Given the description of an element on the screen output the (x, y) to click on. 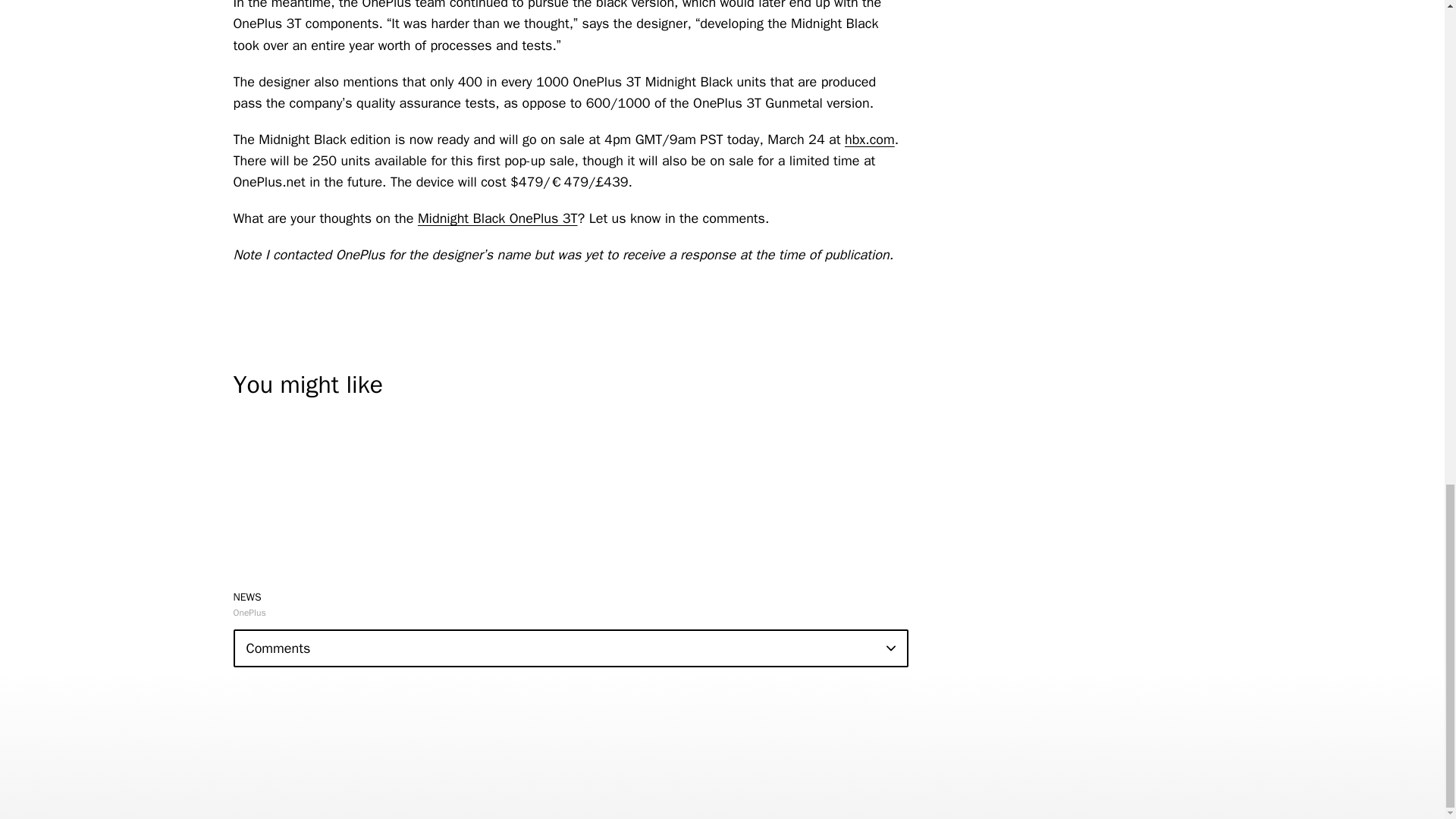
OnePlus (249, 612)
hbx.com (869, 139)
Midnight Black OnePlus 3T (497, 217)
Comments (570, 648)
NEWS (247, 596)
